Given the description of an element on the screen output the (x, y) to click on. 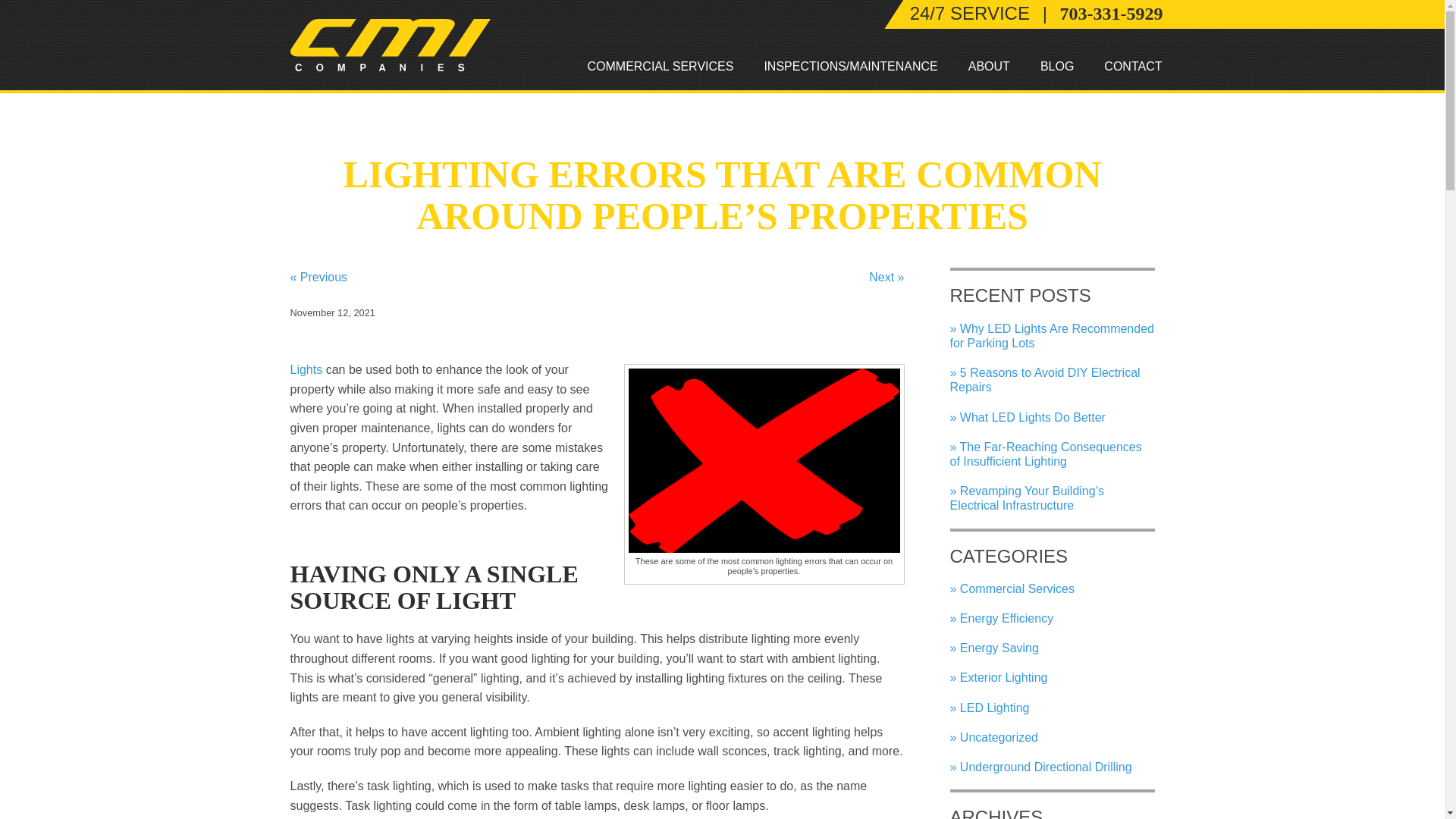
Lights (305, 369)
ABOUT (989, 66)
CMI Companies (389, 44)
COMMERCIAL SERVICES (660, 66)
CONTACT (1132, 66)
BLOG (1057, 66)
